Given the description of an element on the screen output the (x, y) to click on. 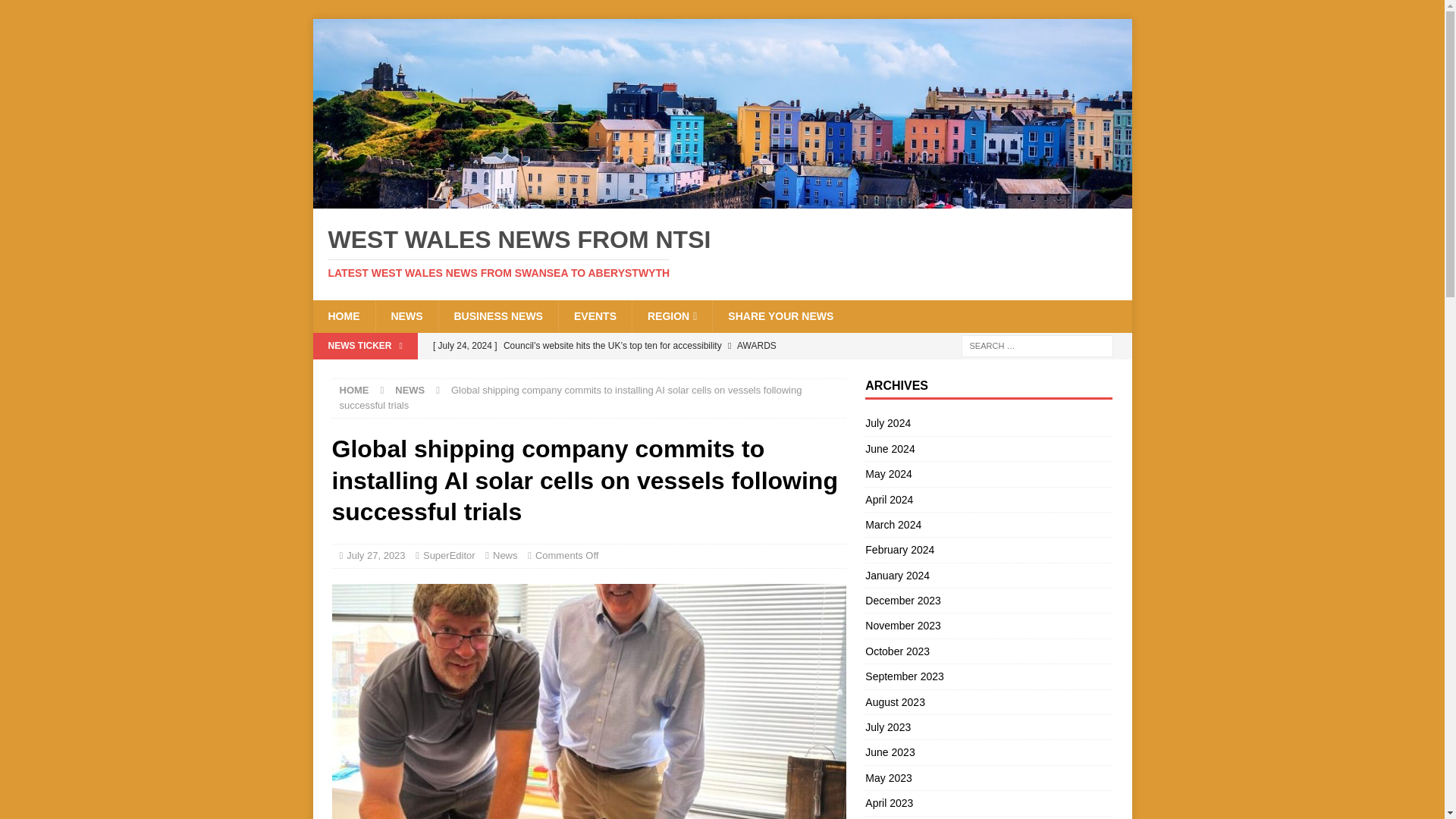
BUSINESS NEWS (497, 316)
REGION (671, 316)
HOME (343, 316)
West Wales News from NTSI (722, 199)
West Wales News from NTSI (721, 253)
GrafmarineCarisbrooke1 (588, 701)
NEWS (406, 316)
Fascinating summer day out for families at Strata Florida (634, 371)
EVENTS (594, 316)
